Given the description of an element on the screen output the (x, y) to click on. 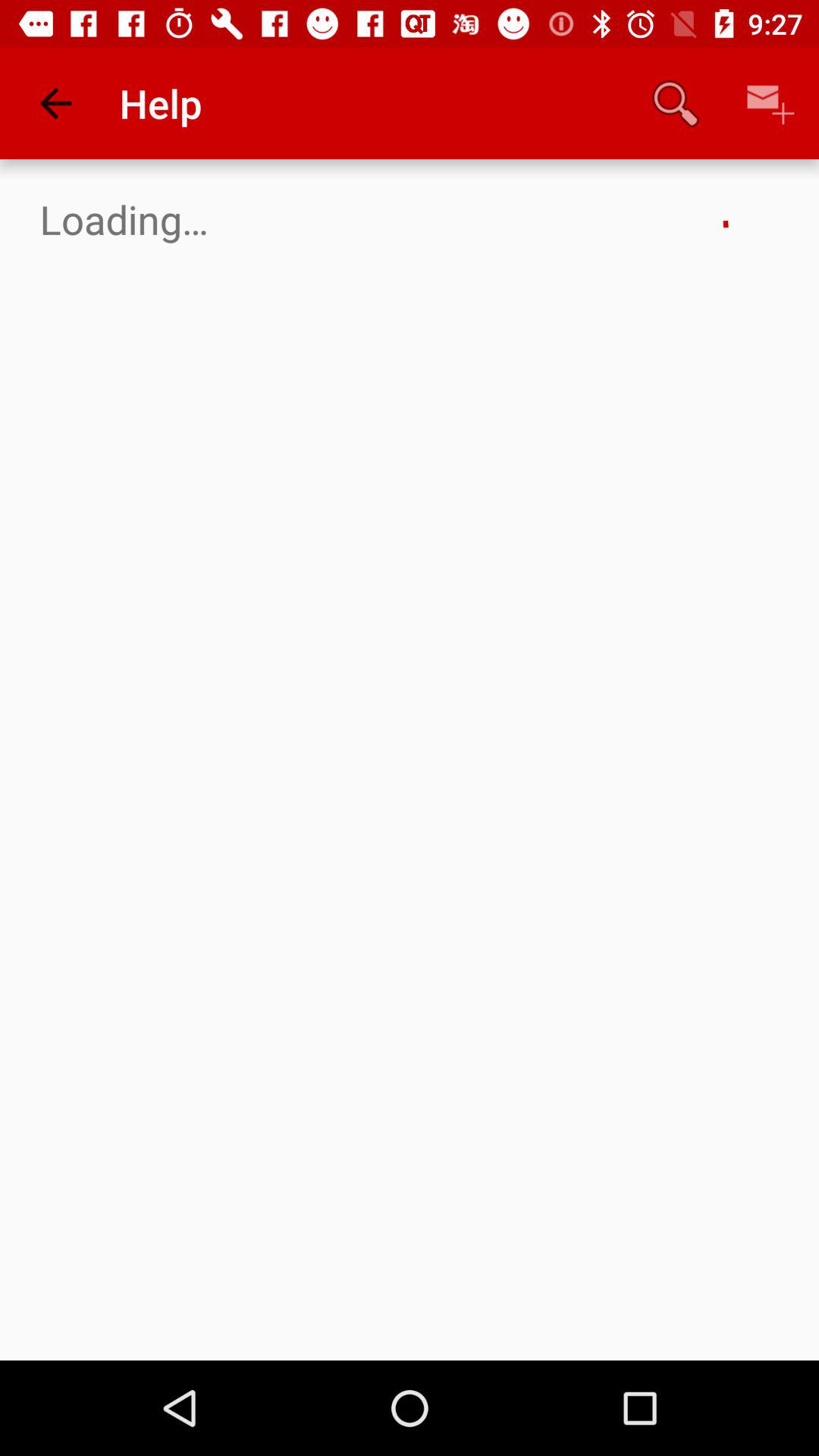
turn on the icon to the right of help (675, 103)
